Given the description of an element on the screen output the (x, y) to click on. 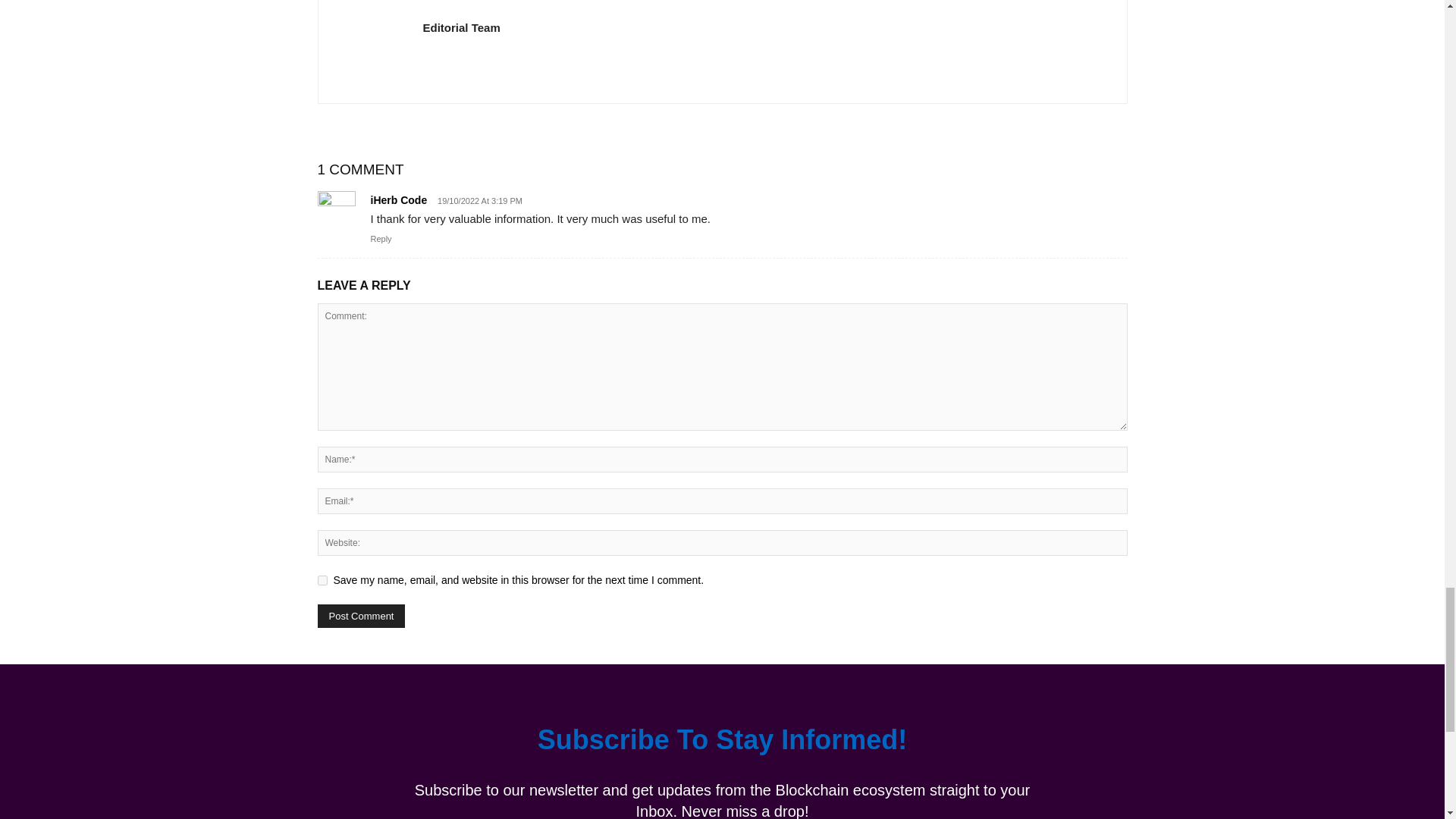
yes (321, 580)
Post Comment (360, 616)
